Given the description of an element on the screen output the (x, y) to click on. 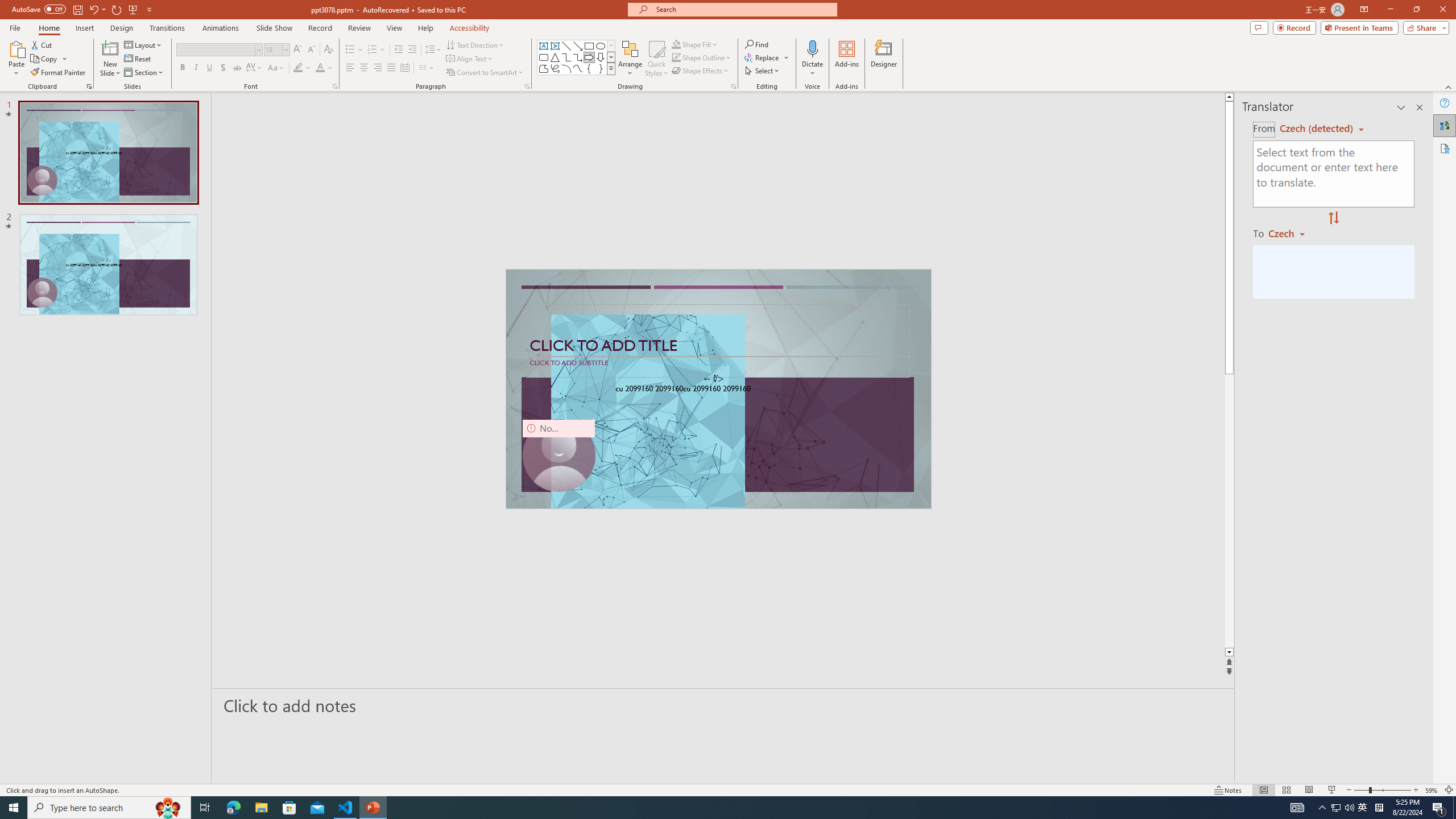
Italic (195, 67)
Czech (detected) (1317, 128)
Font Color Red (320, 67)
Line Spacing (433, 49)
Center (363, 67)
Format Painter (58, 72)
